Given the description of an element on the screen output the (x, y) to click on. 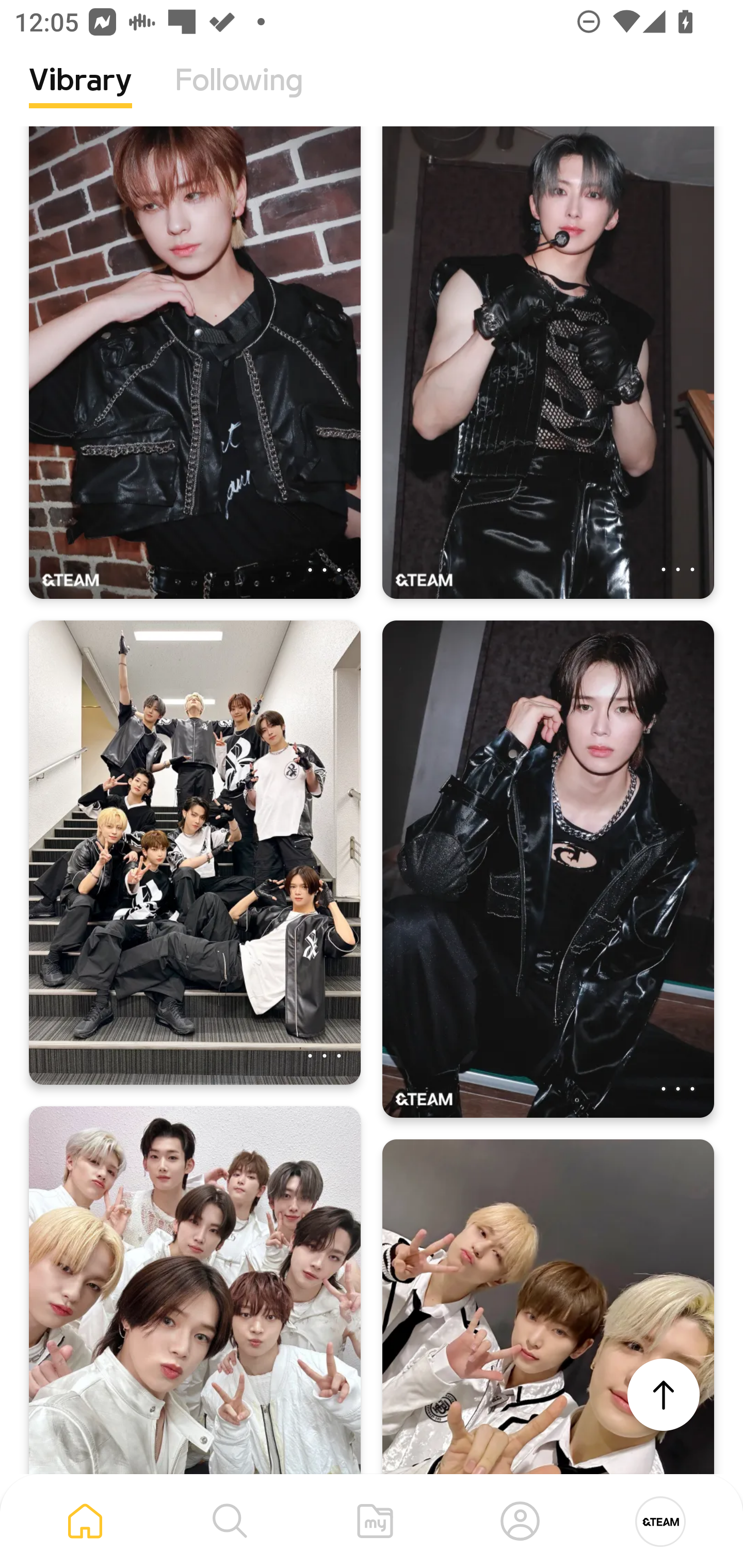
Vibrary (80, 95)
Following (239, 95)
